Given the description of an element on the screen output the (x, y) to click on. 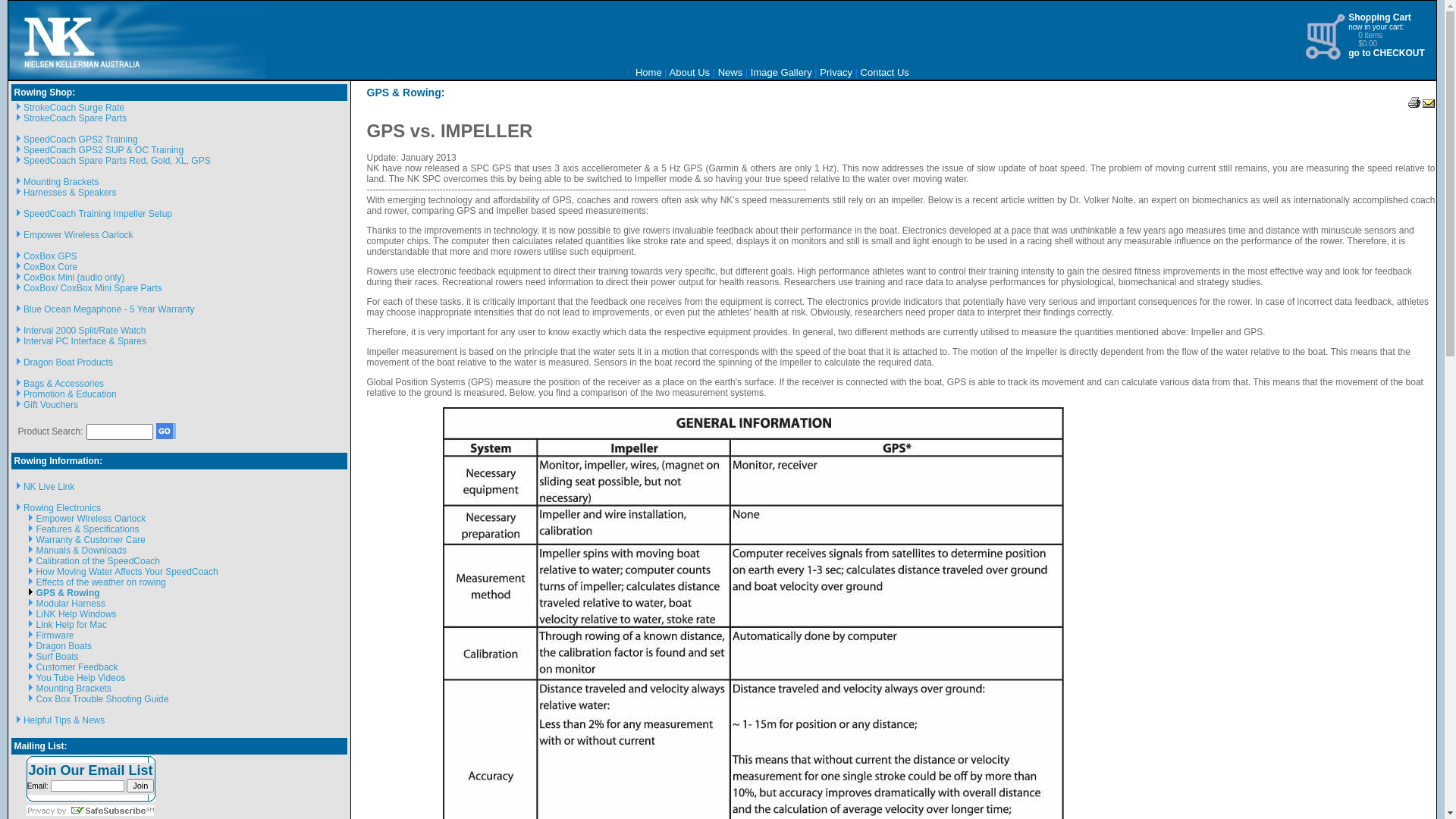
CoxBox GPS Element type: text (50, 256)
Gift Vouchers Element type: text (50, 404)
Empower Wireless Oarlock Element type: text (91, 518)
Home Element type: text (648, 72)
Harnesses & Speakers Element type: text (69, 192)
CoxBox Mini (audio only) Element type: text (73, 277)
Email this page to a friend Element type: hover (1428, 104)
SpeedCoach Spare Parts Red, Gold, XL, GPS Element type: text (116, 160)
Helpful Tips & News Element type: text (63, 720)
Join Element type: text (139, 785)
Contact Us Element type: text (884, 72)
Dragon Boats Element type: text (63, 645)
Mounting Brackets Element type: text (60, 181)
StrokeCoach Spare Parts Element type: text (74, 117)
How Moving Water Affects Your SpeedCoach Element type: text (127, 571)
CoxBox/ CoxBox Mini Spare Parts Element type: text (92, 287)
Cox Box Trouble Shooting Guide Element type: text (102, 698)
Surf Boats Element type: text (57, 656)
LiNK Help Windows Element type: text (76, 613)
Link Help for Mac Element type: text (71, 624)
Interval 2000 Split/Rate Watch Element type: text (84, 330)
Shopping Cart Element type: text (1379, 17)
SpeedCoach GPS2 SUP & OC Training Element type: text (103, 149)
Bags & Accessories Element type: text (63, 383)
About Us Element type: text (689, 72)
Customer Feedback Element type: text (77, 667)
Image Gallery Element type: text (781, 72)
Features & Specifications Element type: text (87, 529)
Blue Ocean Megaphone - 5 Year Warranty Element type: text (108, 309)
SpeedCoach Training Impeller Setup Element type: text (97, 213)
News Element type: text (730, 72)
You Tube Help Videos Element type: text (80, 677)
NK Live Link Element type: text (48, 486)
Dragon Boat Products Element type: text (67, 362)
StrokeCoach Surge Rate Element type: text (73, 107)
Interval PC Interface & Spares Element type: text (84, 340)
go to CHECKOUT Element type: text (1386, 52)
GPS & Rowing Element type: text (68, 592)
Effects of the weather on rowing Element type: text (101, 582)
Promotion & Education Element type: text (69, 394)
Empower Wireless Oarlock Element type: text (78, 234)
Rowing Electronics Element type: text (61, 507)
Modular Harness Element type: text (70, 603)
SpeedCoach GPS2 Training Element type: text (80, 139)
CoxBox Core Element type: text (50, 266)
Firmware Element type: text (55, 635)
Print this page Element type: hover (1413, 104)
Calibration of the SpeedCoach Element type: text (98, 560)
Warranty & Customer Care Element type: text (90, 539)
Privacy Element type: text (835, 72)
Manuals & Downloads Element type: text (81, 550)
Mounting Brackets Element type: text (73, 688)
